Given the description of an element on the screen output the (x, y) to click on. 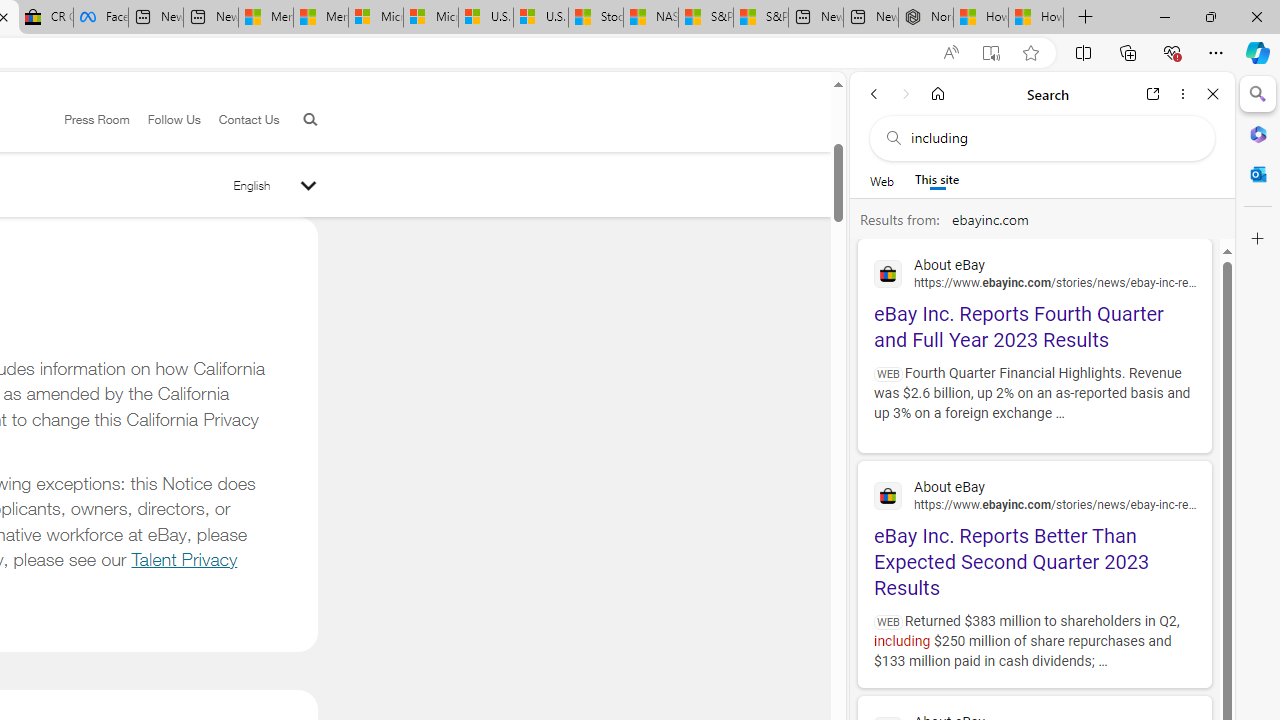
Global web icon (888, 495)
Forward (906, 93)
